Given the description of an element on the screen output the (x, y) to click on. 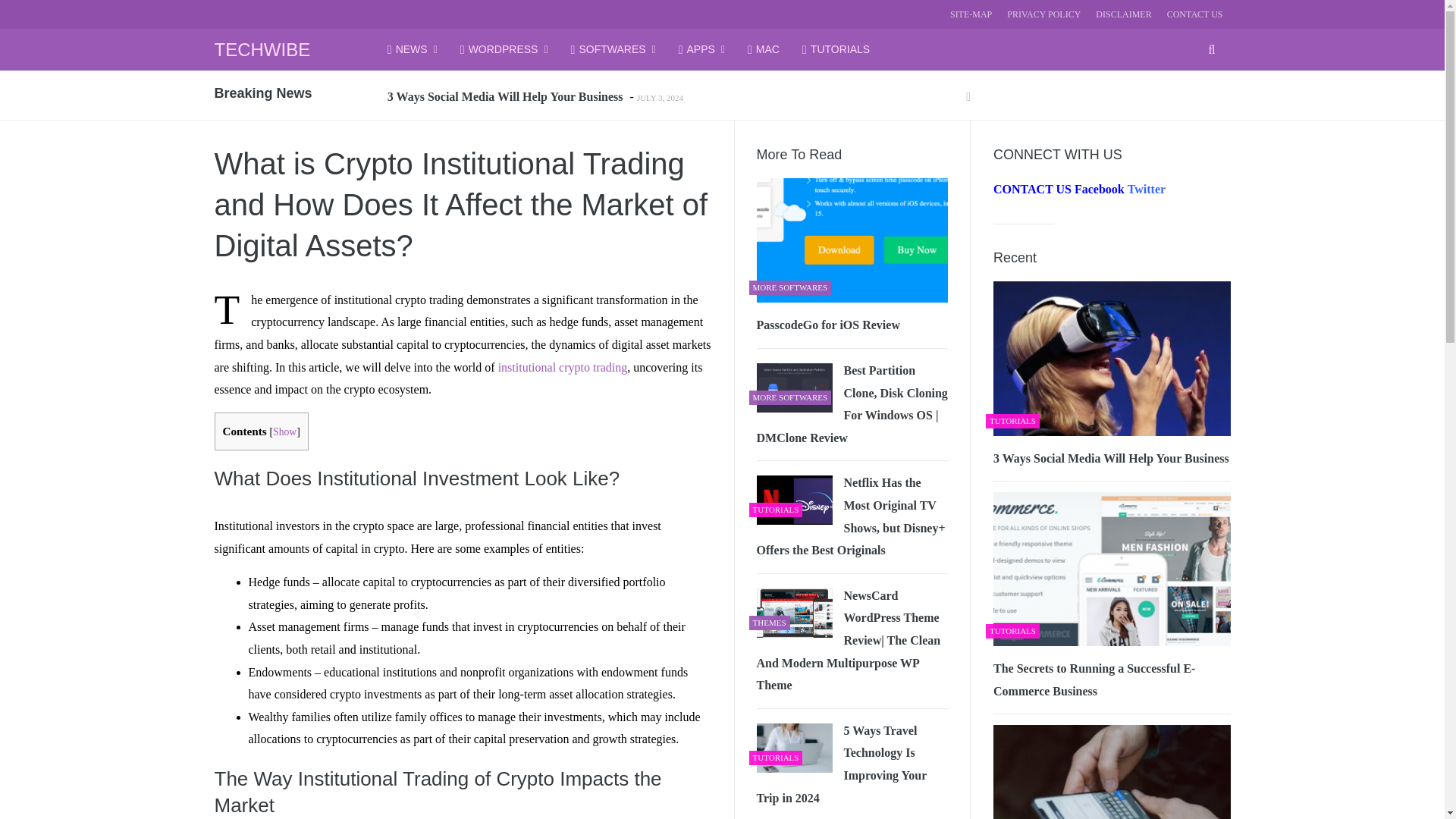
SOFTWARES (613, 49)
3 Ways Social Media Will Help Your Business (507, 96)
institutional crypto trading (562, 367)
3 Ways Social Media Will Help Your Business (507, 96)
APPS (701, 49)
SITE-MAP (970, 14)
CONTACT US (1195, 14)
WORDPRESS (504, 49)
TECHWIBE (262, 49)
TECHWIBE (262, 49)
NEWS (412, 49)
SOFTWARES (613, 49)
DISCLAIMER (1123, 14)
WORDPRESS (504, 49)
Show (285, 431)
